Given the description of an element on the screen output the (x, y) to click on. 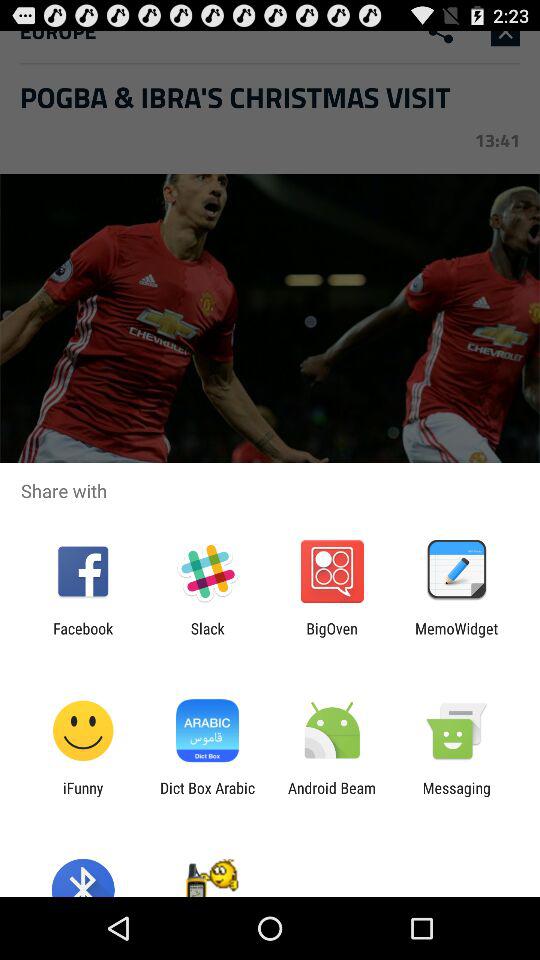
choose icon next to dict box arabic icon (332, 796)
